Given the description of an element on the screen output the (x, y) to click on. 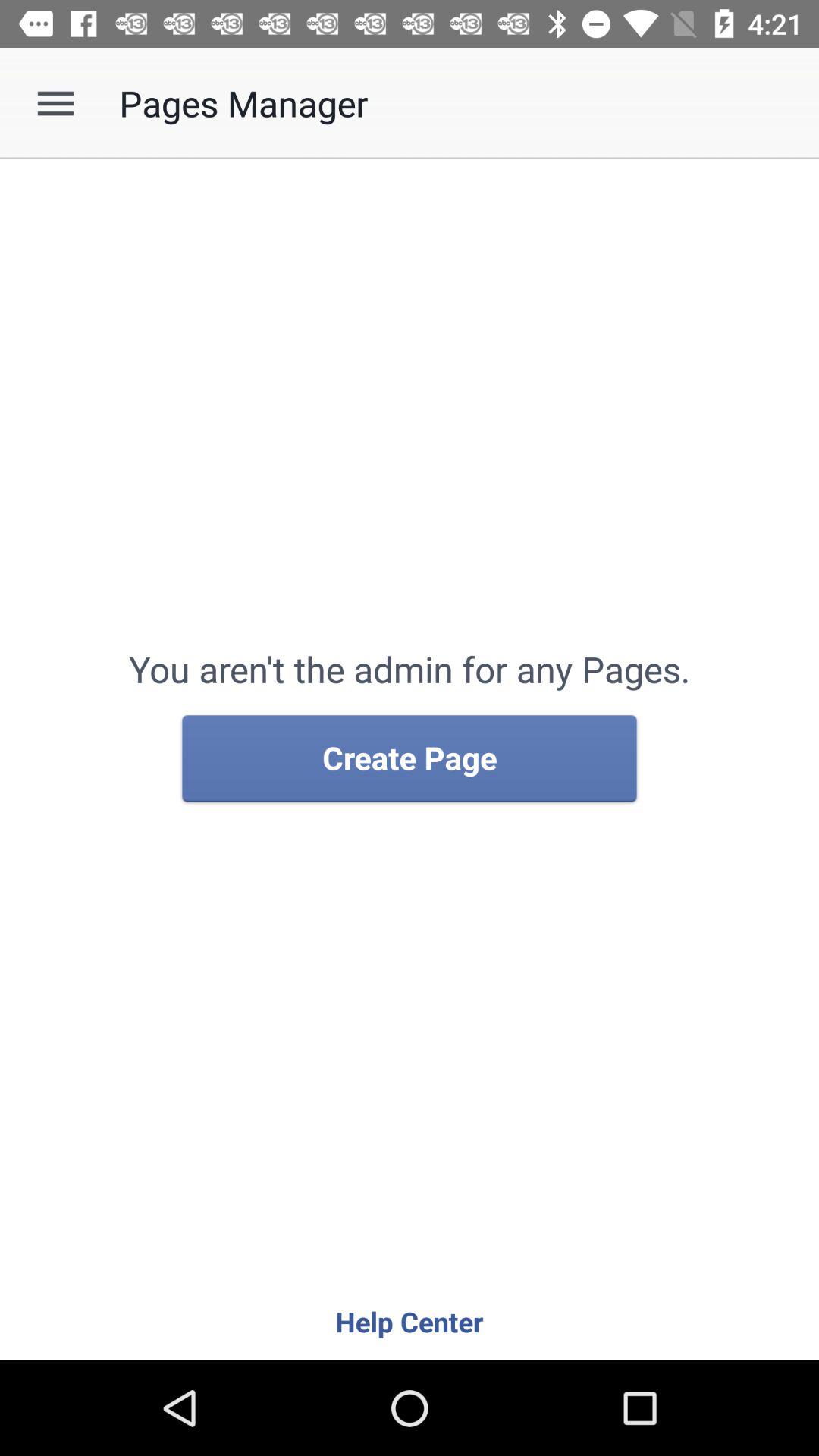
click icon above the help center item (409, 759)
